Given the description of an element on the screen output the (x, y) to click on. 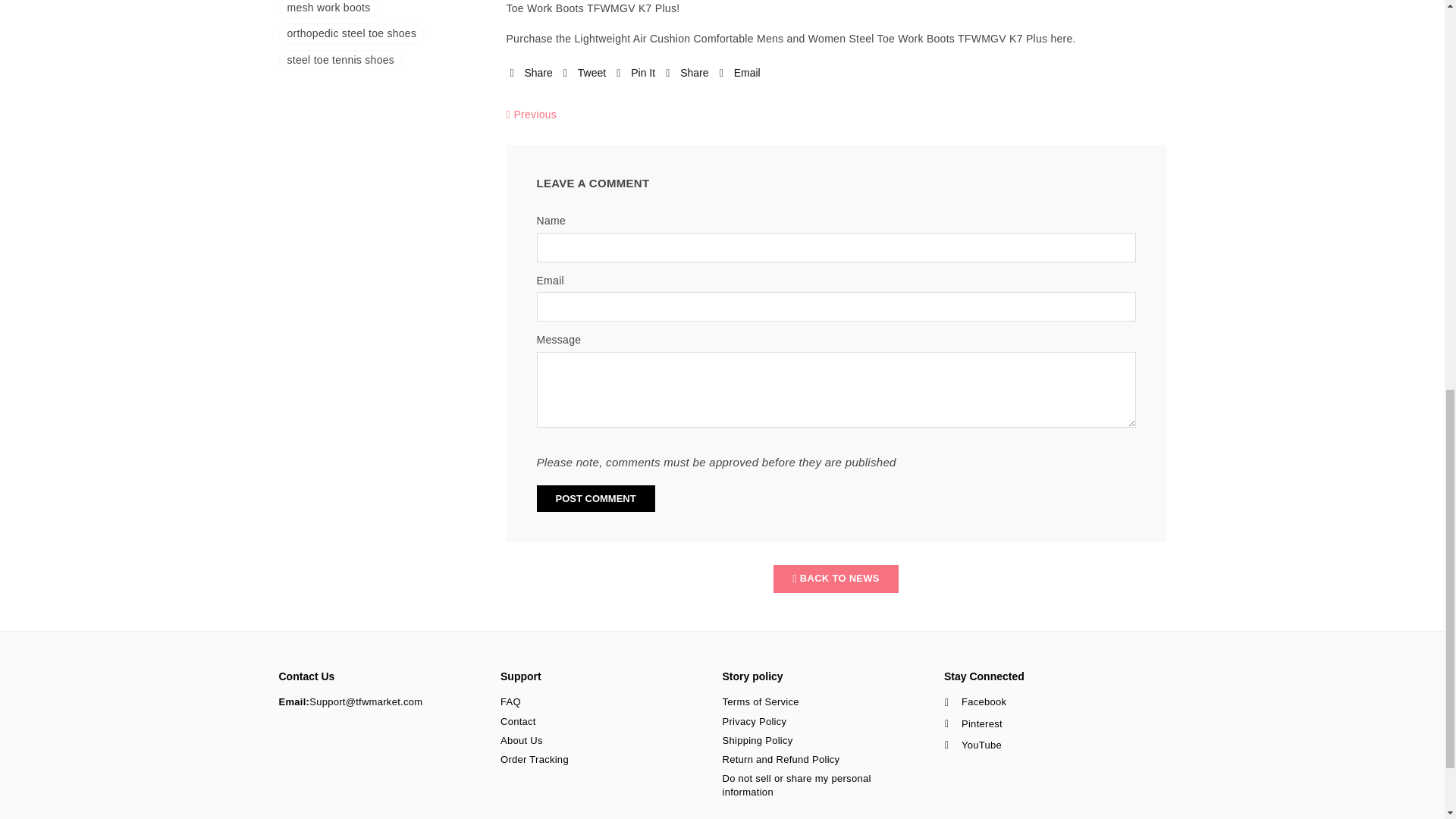
Show articles tagged steel toe tennis shoes (341, 59)
Post comment (596, 498)
Previous (531, 114)
Post comment (596, 498)
Share (686, 73)
Share on Facebook (530, 73)
Tweet (584, 73)
Pin on Pinterest (635, 73)
Share by Email (739, 73)
